Given the description of an element on the screen output the (x, y) to click on. 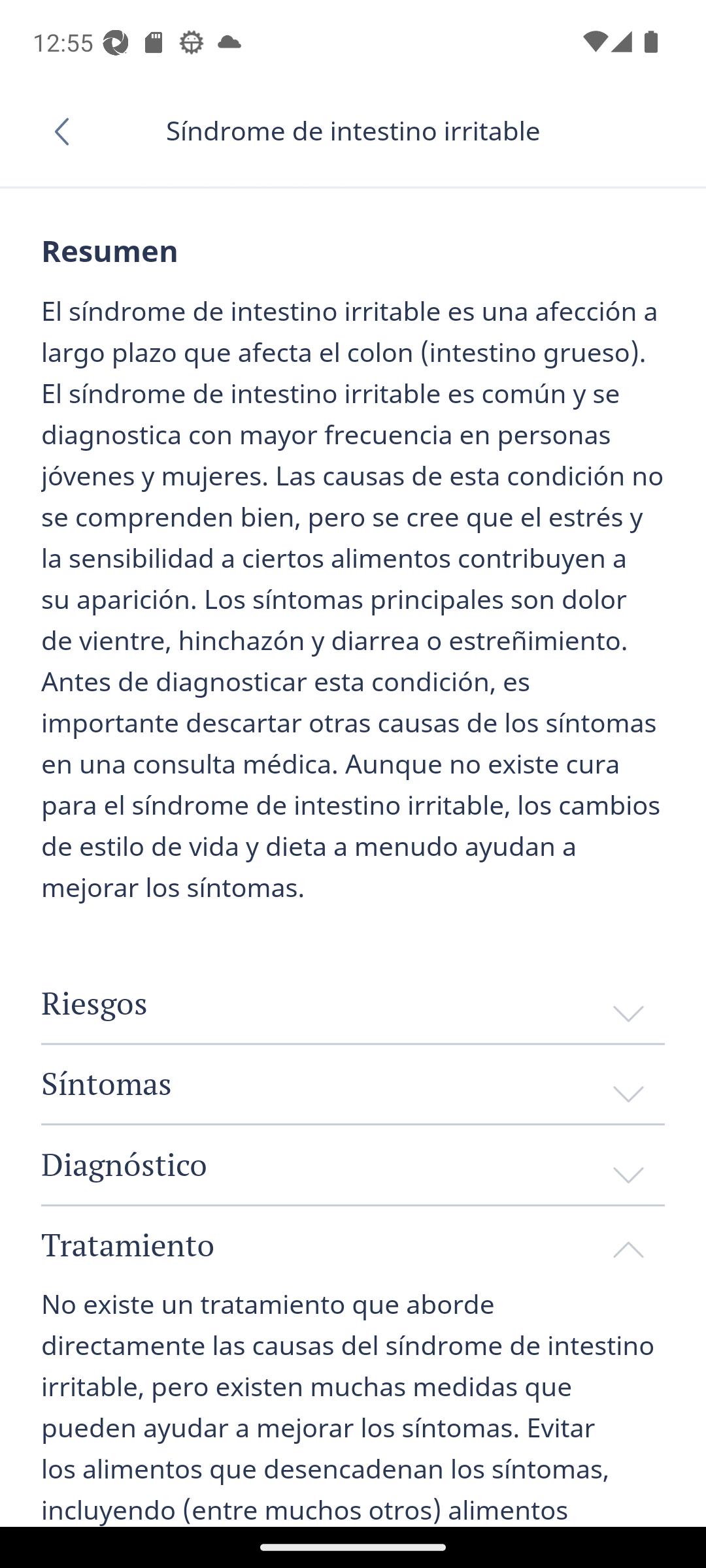
Go back, Navigates to the previous screen (68, 131)
Riesgos  (352, 1003)
Síntomas  (352, 1083)
Diagnóstico  (352, 1164)
Tratamiento  (352, 1244)
